Given the description of an element on the screen output the (x, y) to click on. 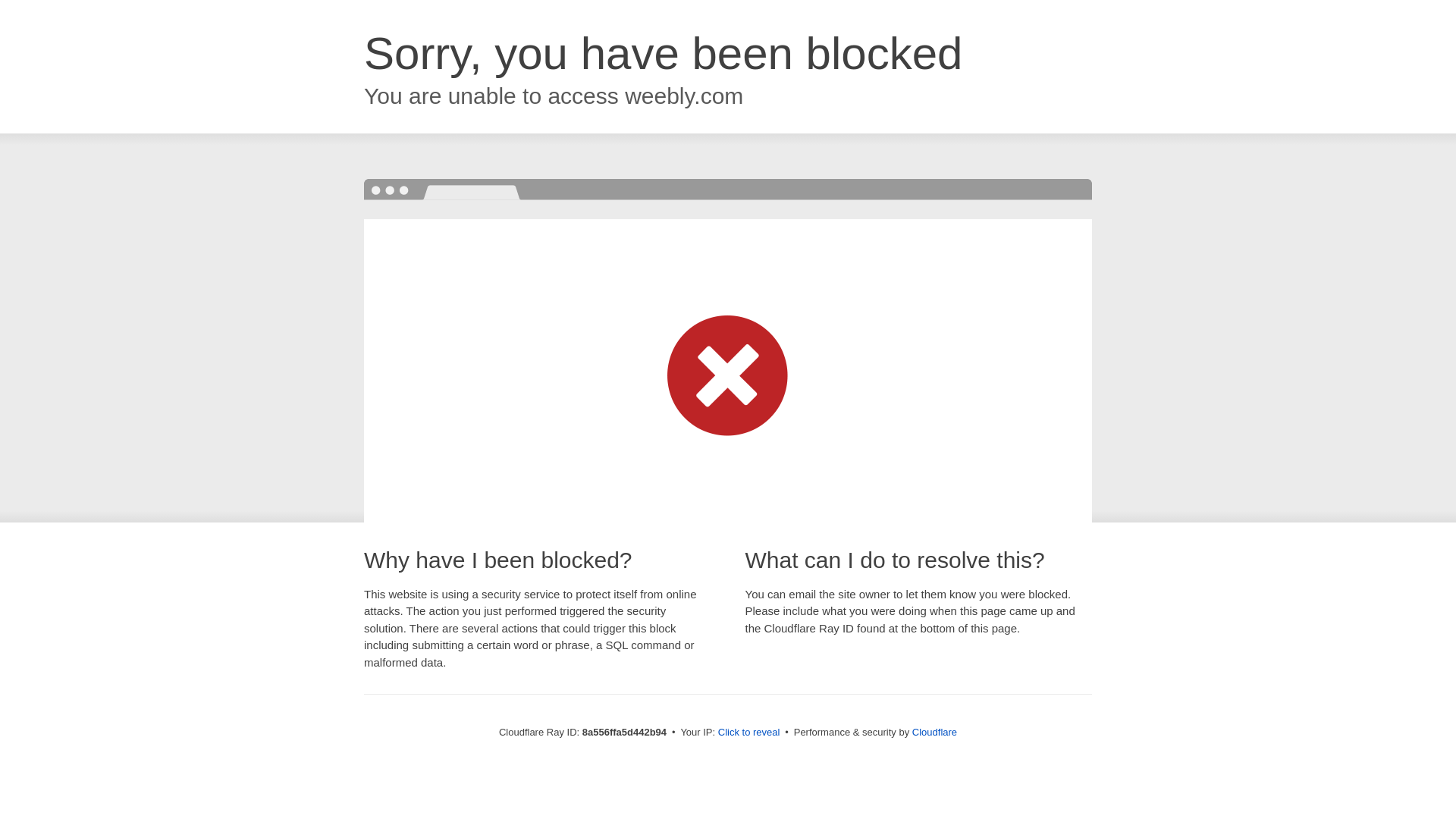
Cloudflare (934, 731)
Click to reveal (748, 732)
